Given the description of an element on the screen output the (x, y) to click on. 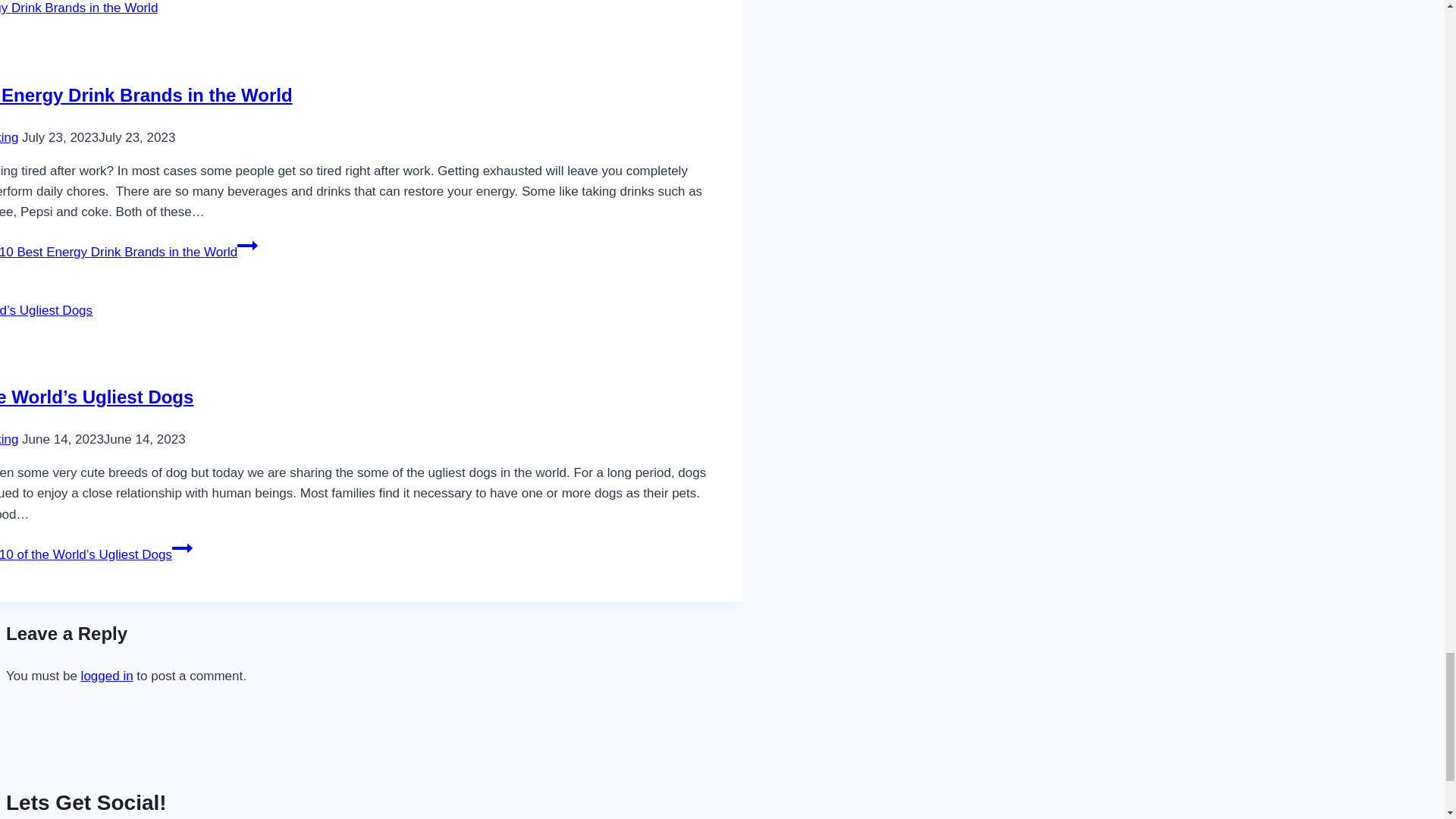
Continue (181, 547)
Read More 10 Best Energy Drink Brands in the WorldContinue (128, 251)
BigShocking (9, 137)
10 Best Energy Drink Brands in the World (146, 95)
Continue (247, 245)
